Given the description of an element on the screen output the (x, y) to click on. 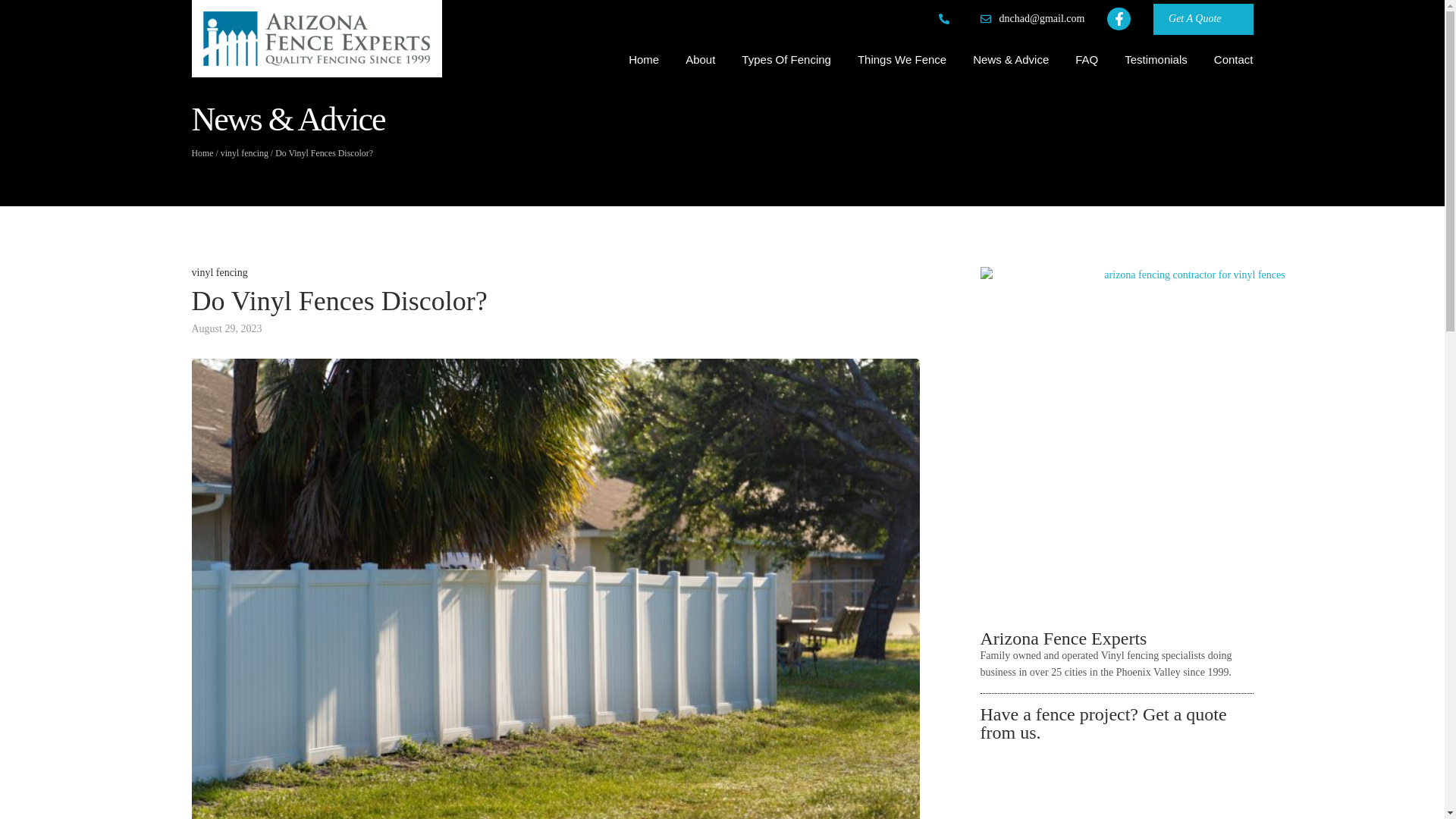
Contact (1233, 59)
Types Of Fencing (786, 59)
Get A Quote (1202, 19)
Testimonials (1156, 59)
About (699, 59)
Home (643, 59)
Things We Fence (901, 59)
